Given the description of an element on the screen output the (x, y) to click on. 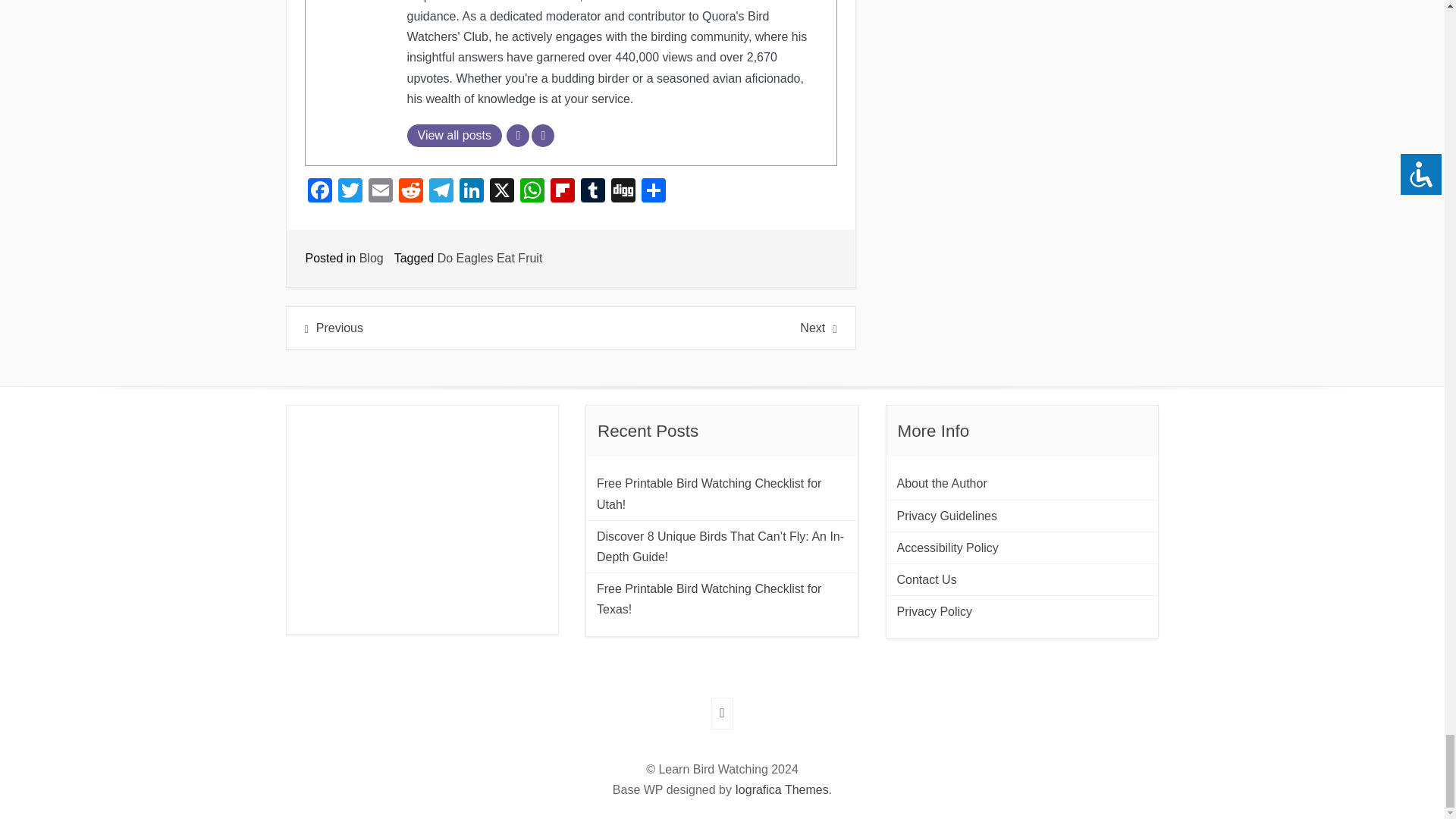
Twitter (349, 192)
WhatsApp (531, 192)
View all posts (454, 135)
Tumblr (593, 192)
Telegram (441, 192)
Flipboard (562, 192)
Reddit (411, 192)
X (501, 192)
Digg (623, 192)
Facebook (319, 192)
Email (380, 192)
LinkedIn (471, 192)
